Given the description of an element on the screen output the (x, y) to click on. 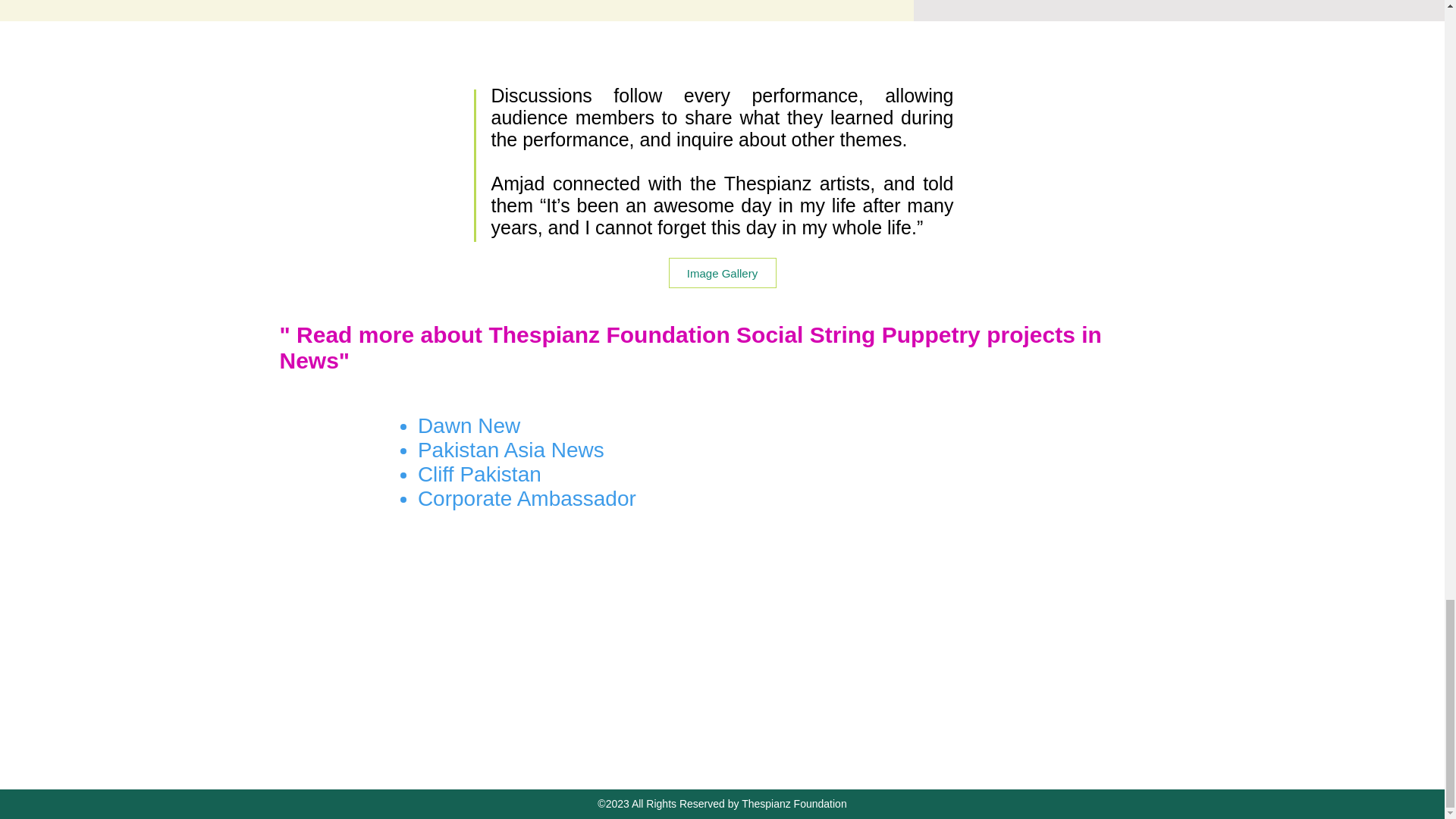
Dawn New (468, 425)
Corporate Ambassador (526, 498)
Pakistan Asia News (510, 449)
Cliff Pakistan (479, 474)
Image Gallery (722, 272)
